Given the description of an element on the screen output the (x, y) to click on. 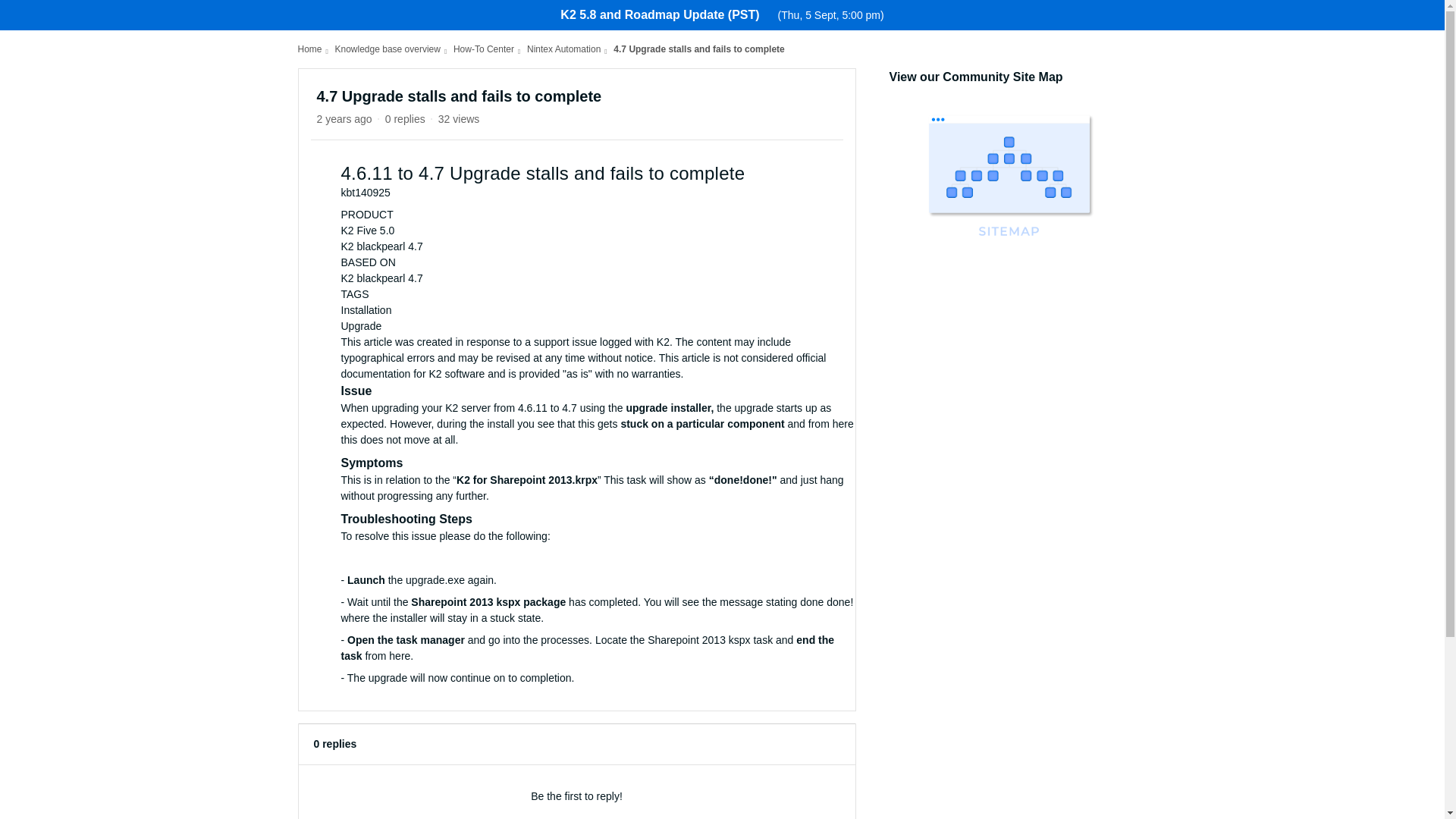
How-To Center (482, 49)
Home (309, 49)
Nintex Automation (563, 49)
0 replies (405, 119)
Knowledge base overview (387, 49)
